Given the description of an element on the screen output the (x, y) to click on. 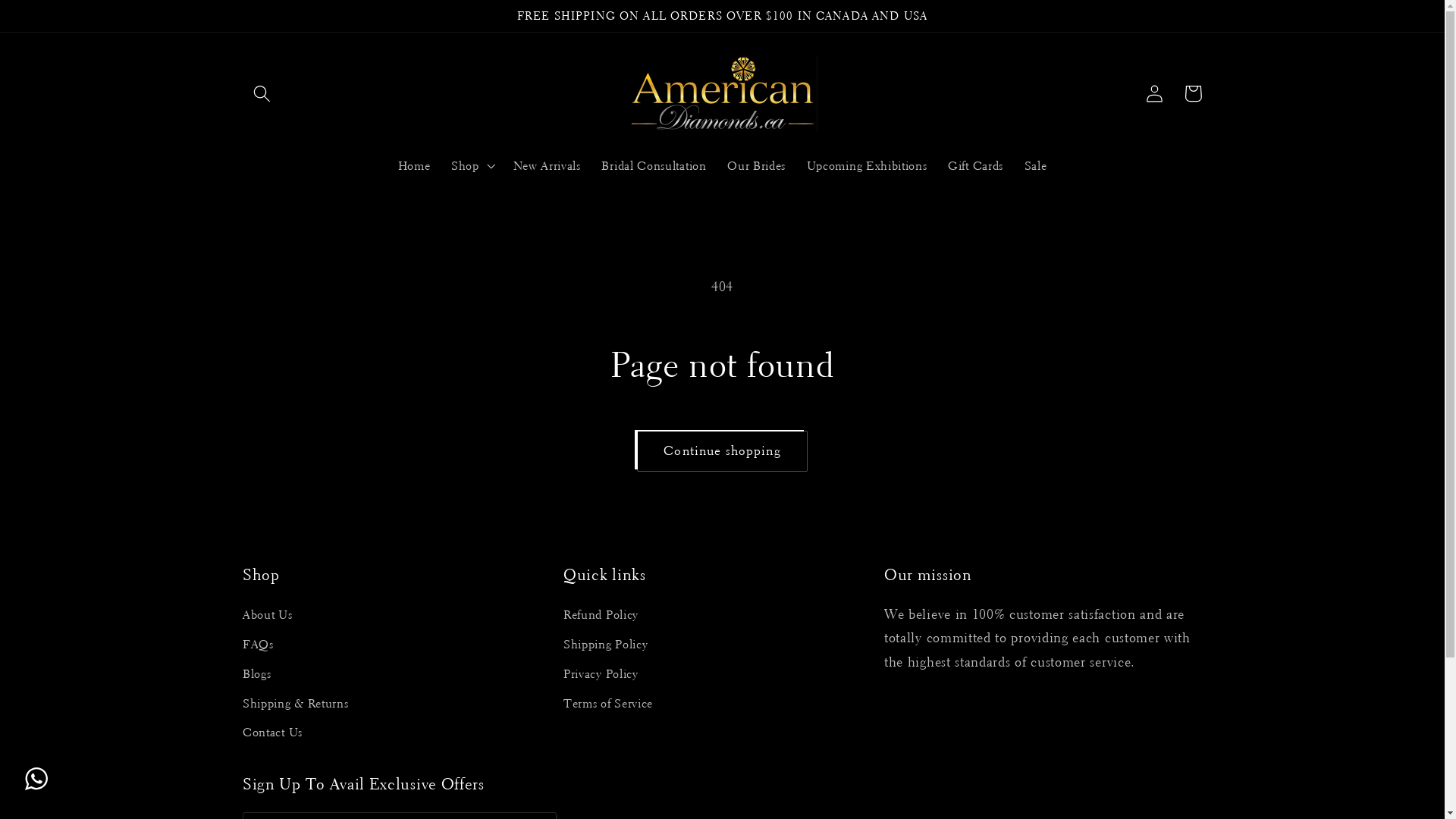
Gift Cards Element type: text (975, 165)
Contact Us Element type: text (272, 733)
Sale Element type: text (1035, 165)
Shipping & Returns Element type: text (295, 703)
Continue shopping Element type: text (722, 450)
Blogs Element type: text (256, 674)
Bridal Consultation Element type: text (654, 165)
Log in Element type: text (1154, 93)
FAQs Element type: text (257, 644)
Cart Element type: text (1192, 93)
Refund Policy Element type: text (600, 617)
Privacy Policy Element type: text (600, 674)
Our Brides Element type: text (756, 165)
Home Element type: text (413, 165)
About Us Element type: text (267, 617)
Terms of Service Element type: text (607, 703)
Shipping Policy Element type: text (605, 644)
New Arrivals Element type: text (546, 165)
Upcoming Exhibitions Element type: text (866, 165)
